Given the description of an element on the screen output the (x, y) to click on. 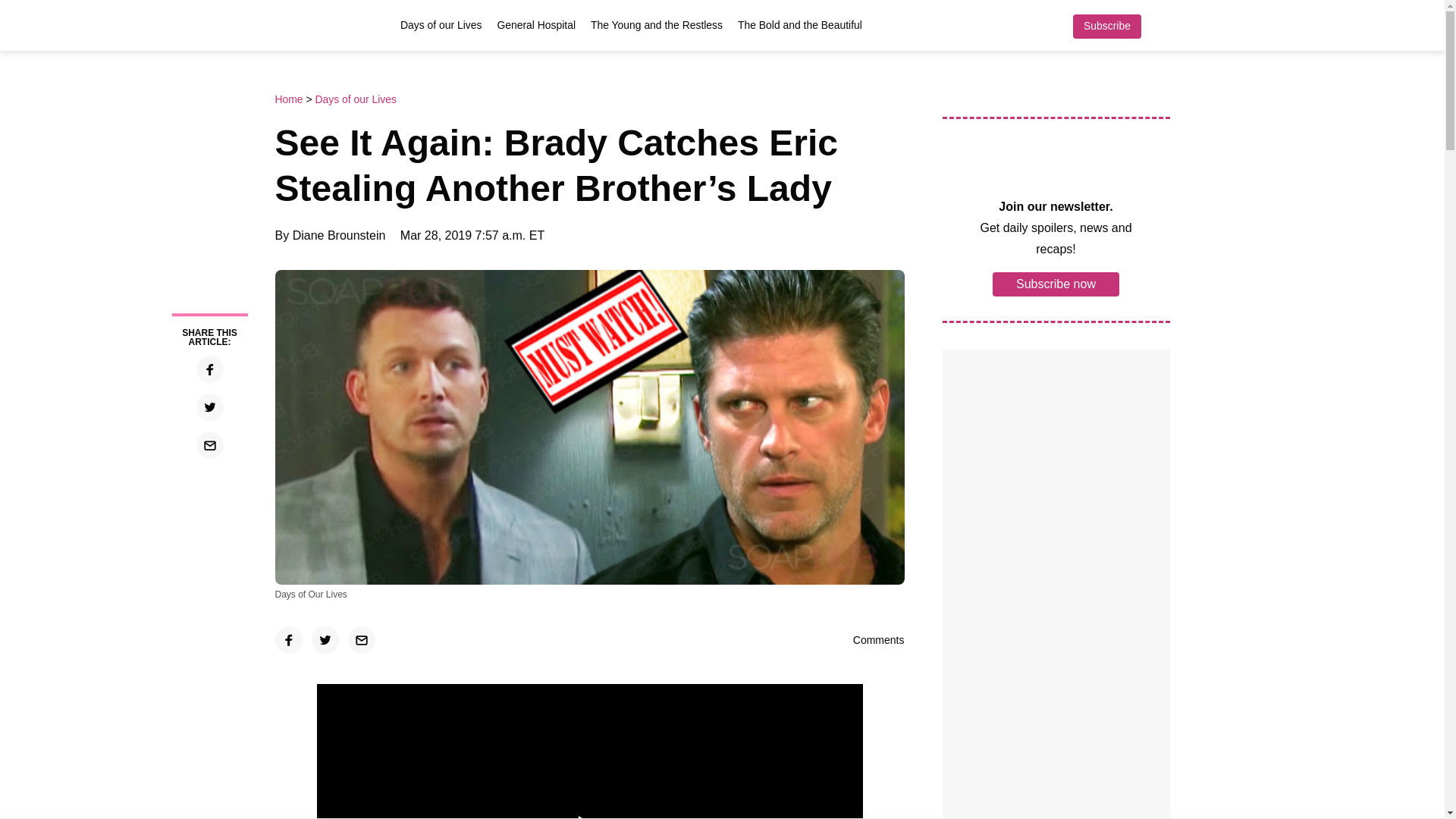
Click to share on Twitter (324, 639)
The Bold and the Beautiful (799, 24)
Home (290, 99)
Click to share on Facebook (288, 639)
The Young and the Restless (656, 24)
Click to email a link to a friend (208, 444)
Diane Brounstein (338, 235)
Days of our Lives (441, 24)
Subscribe (1105, 26)
Subscribe now (1055, 283)
